Given the description of an element on the screen output the (x, y) to click on. 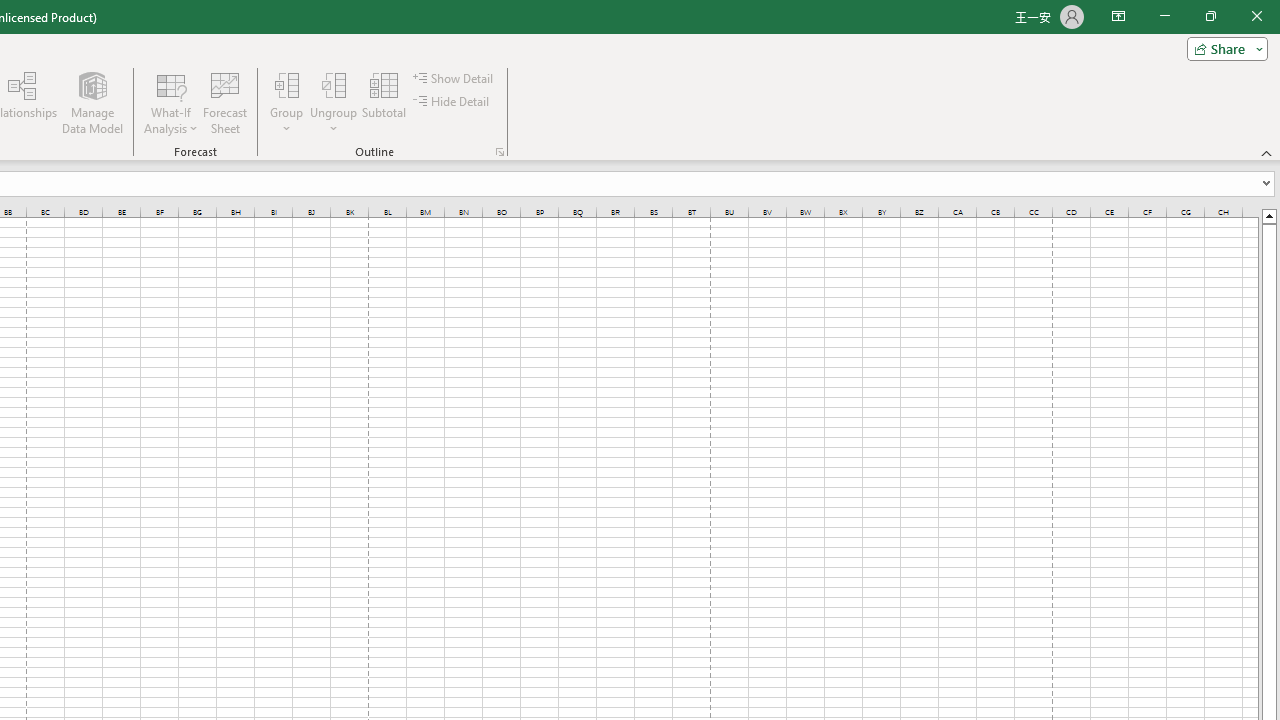
Group and Outline Settings (499, 151)
Hide Detail (452, 101)
Subtotal (384, 102)
Manage Data Model (92, 102)
What-If Analysis (171, 102)
Show Detail (454, 78)
